Given the description of an element on the screen output the (x, y) to click on. 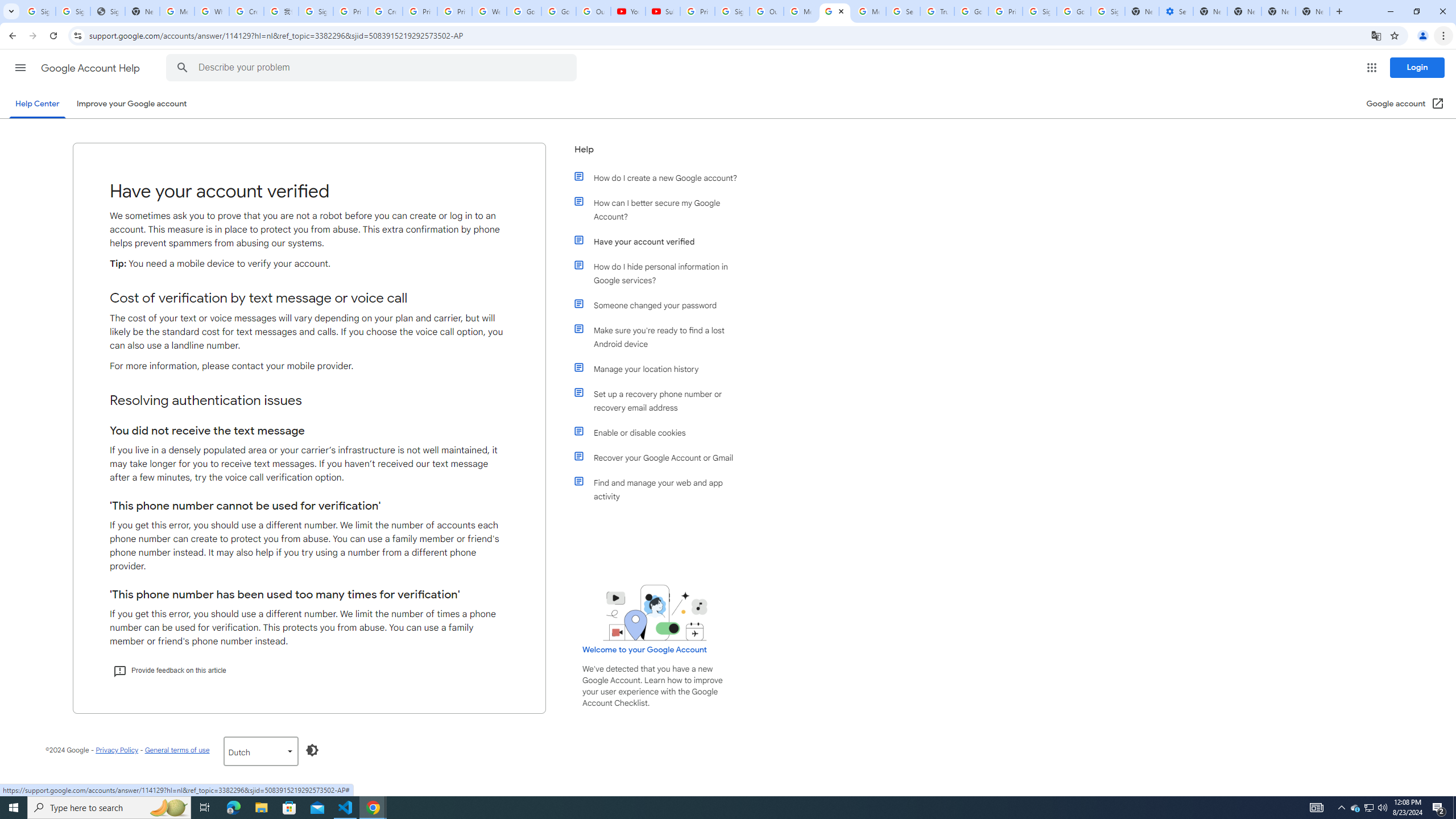
Create your Google Account (246, 11)
Who is my administrator? - Google Account Help (211, 11)
Recover your Google Account or Gmail (661, 457)
How can I better secure my Google Account? (661, 209)
Improve your Google account (131, 103)
Sign in - Google Accounts (1039, 11)
Someone changed your password (661, 305)
